Given the description of an element on the screen output the (x, y) to click on. 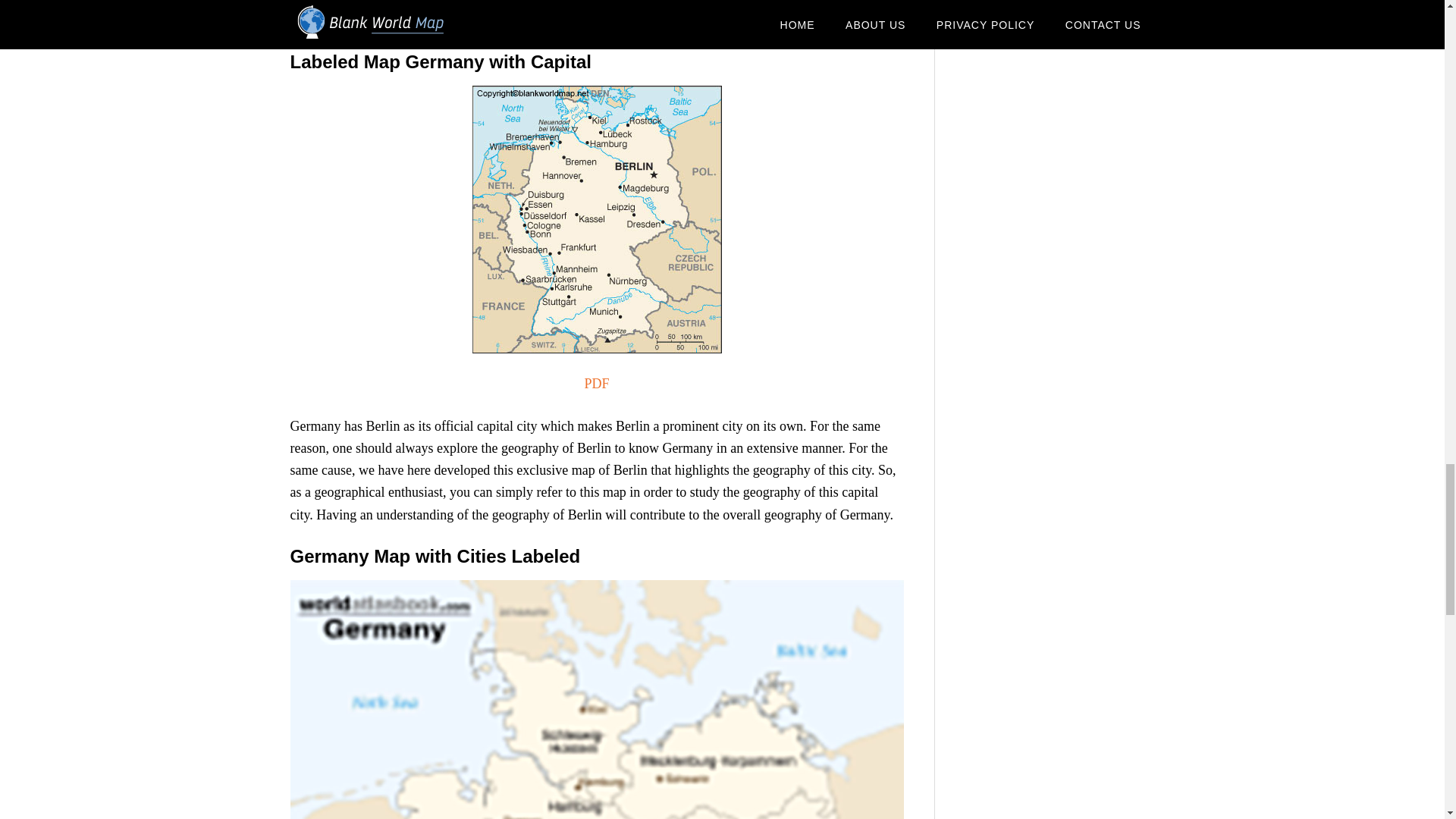
PDF (595, 383)
